Given the description of an element on the screen output the (x, y) to click on. 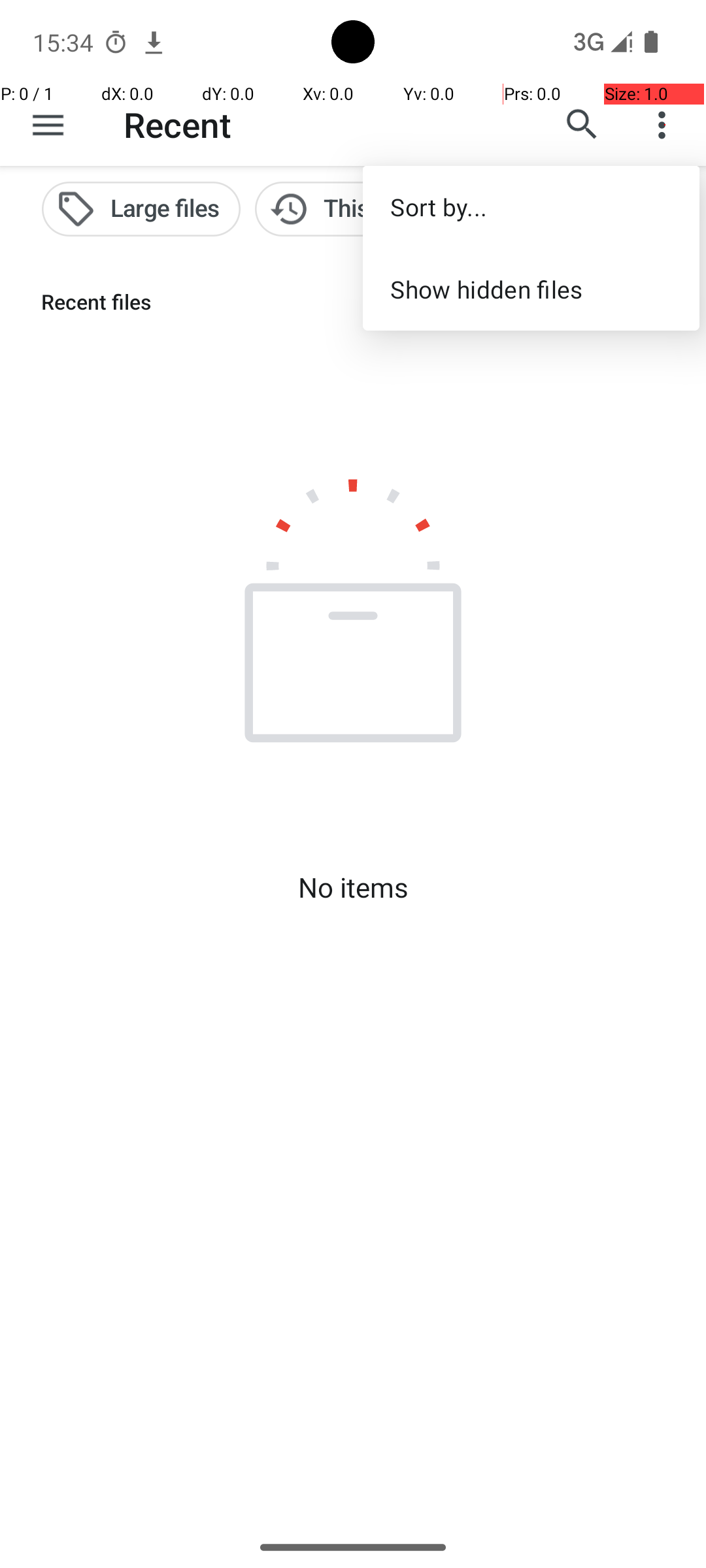
Chrome notification: www.espn.com Element type: android.widget.ImageView (153, 41)
